Given the description of an element on the screen output the (x, y) to click on. 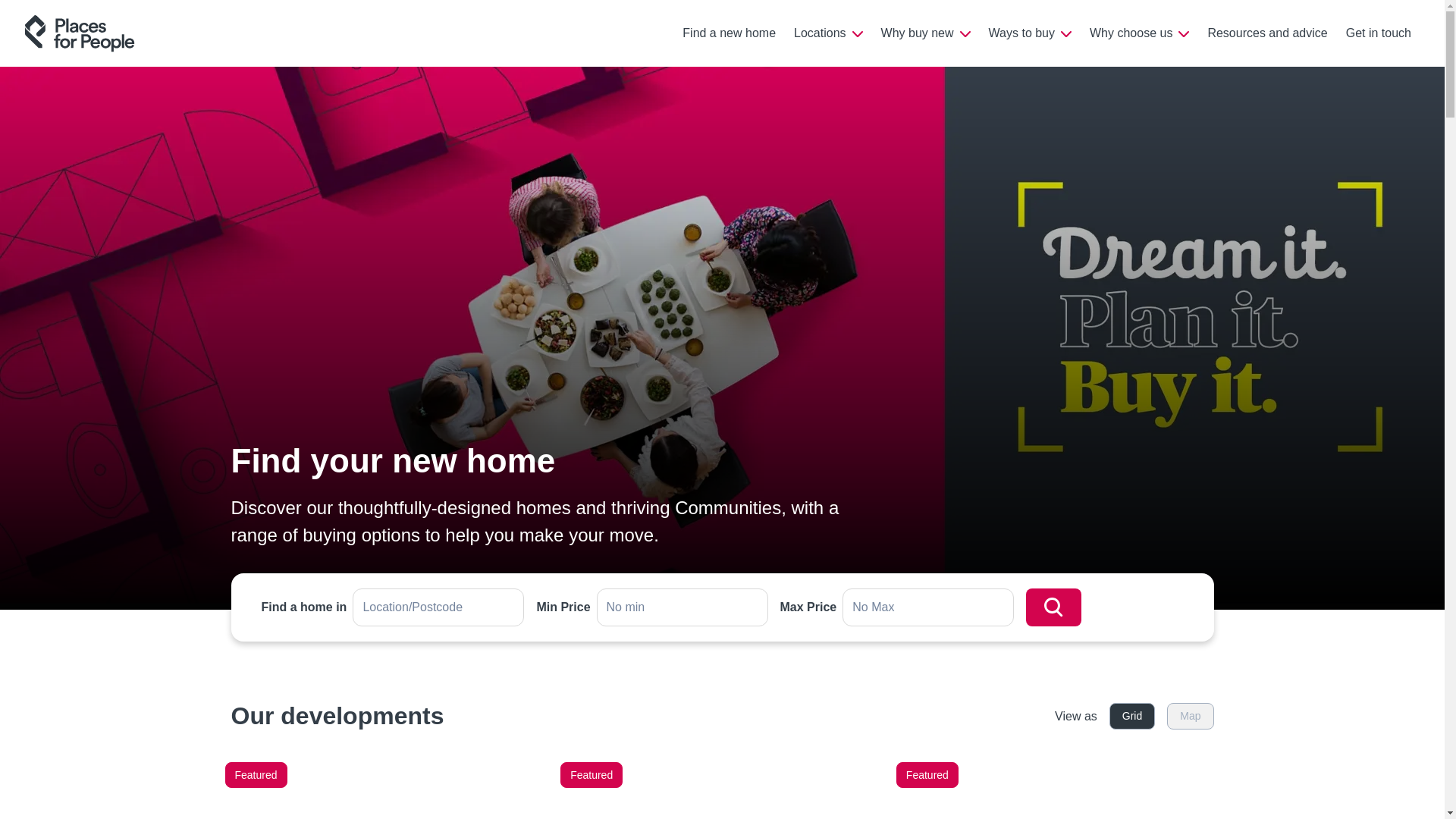
Get in touch (1378, 33)
Locations (828, 32)
Why choose us (1139, 32)
Why buy new (925, 32)
Map (1189, 715)
Find a new home (728, 33)
Grid (1131, 715)
Ways to buy (1029, 32)
Resources and advice (1267, 33)
Close (1389, 42)
Submit (1053, 607)
